Given the description of an element on the screen output the (x, y) to click on. 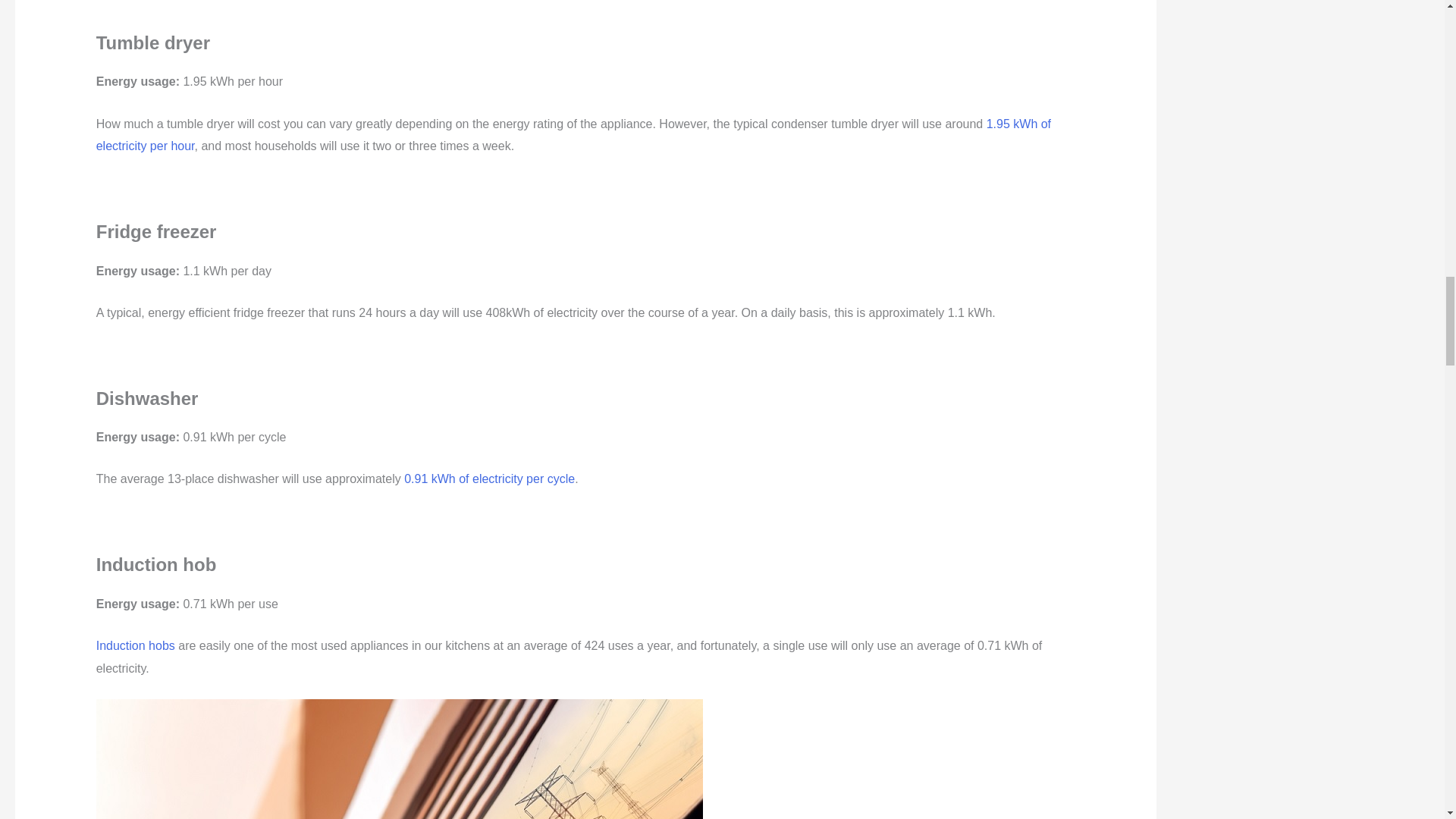
0.91 kWh of electricity per cycle (489, 478)
1.95 kWh of electricity per hour (573, 135)
Induction hobs (135, 645)
